Given the description of an element on the screen output the (x, y) to click on. 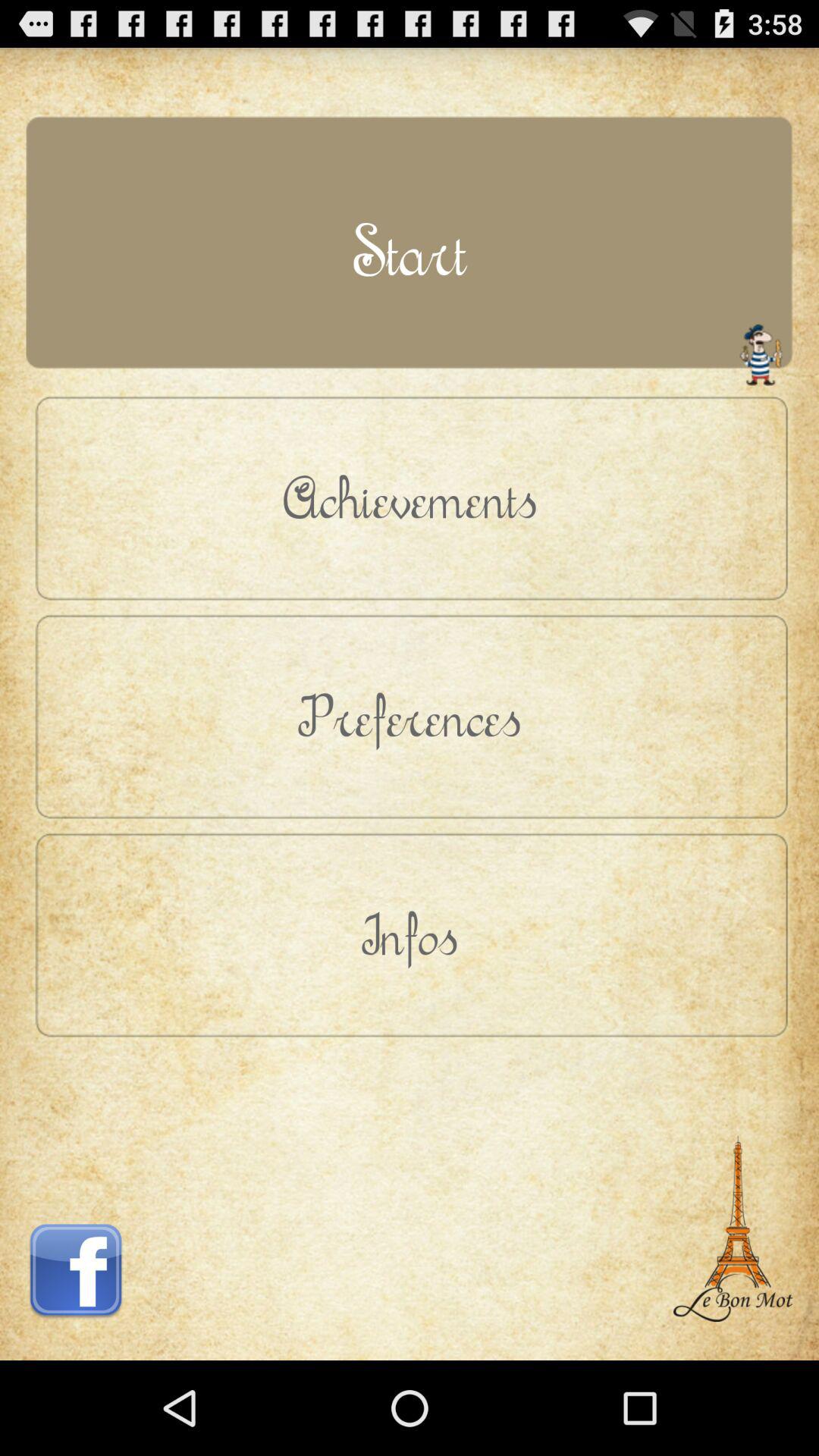
choose item below infos button (732, 1195)
